Given the description of an element on the screen output the (x, y) to click on. 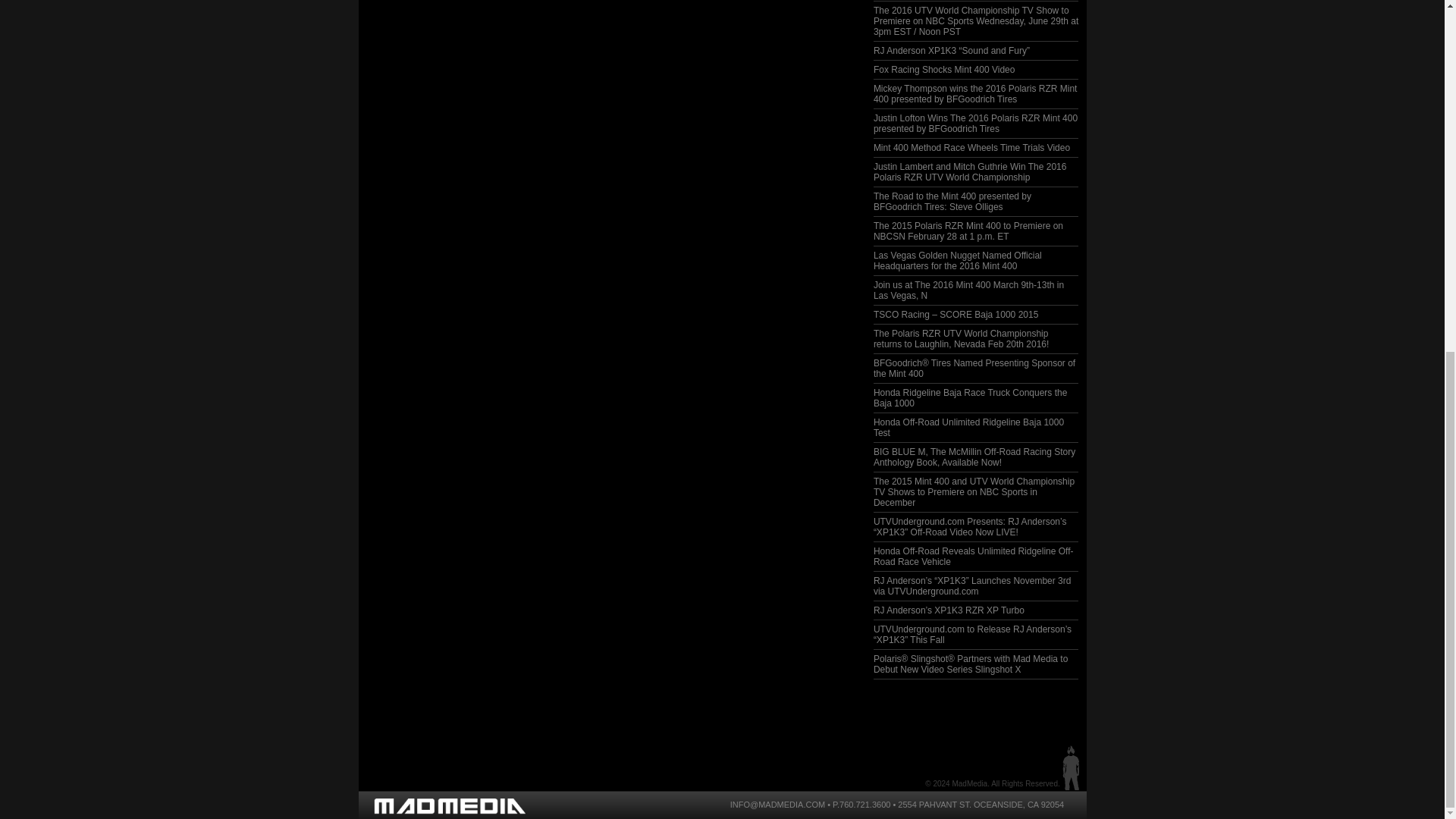
Fox Racing Shocks Mint 400 Video (943, 69)
Mint 400 Method Race Wheels Time Trials Video (971, 147)
